Given the description of an element on the screen output the (x, y) to click on. 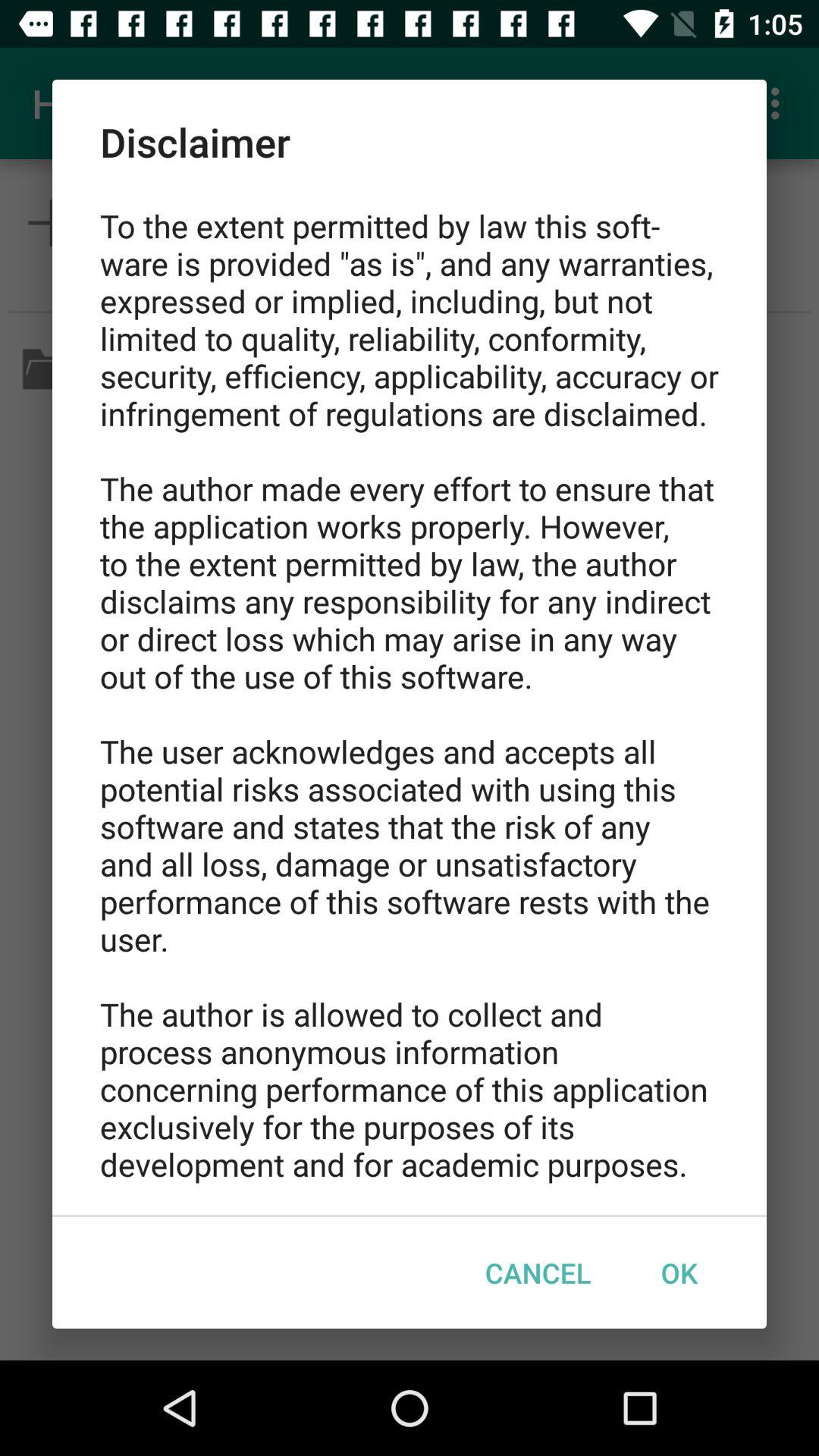
turn off the icon to the right of cancel item (678, 1272)
